Given the description of an element on the screen output the (x, y) to click on. 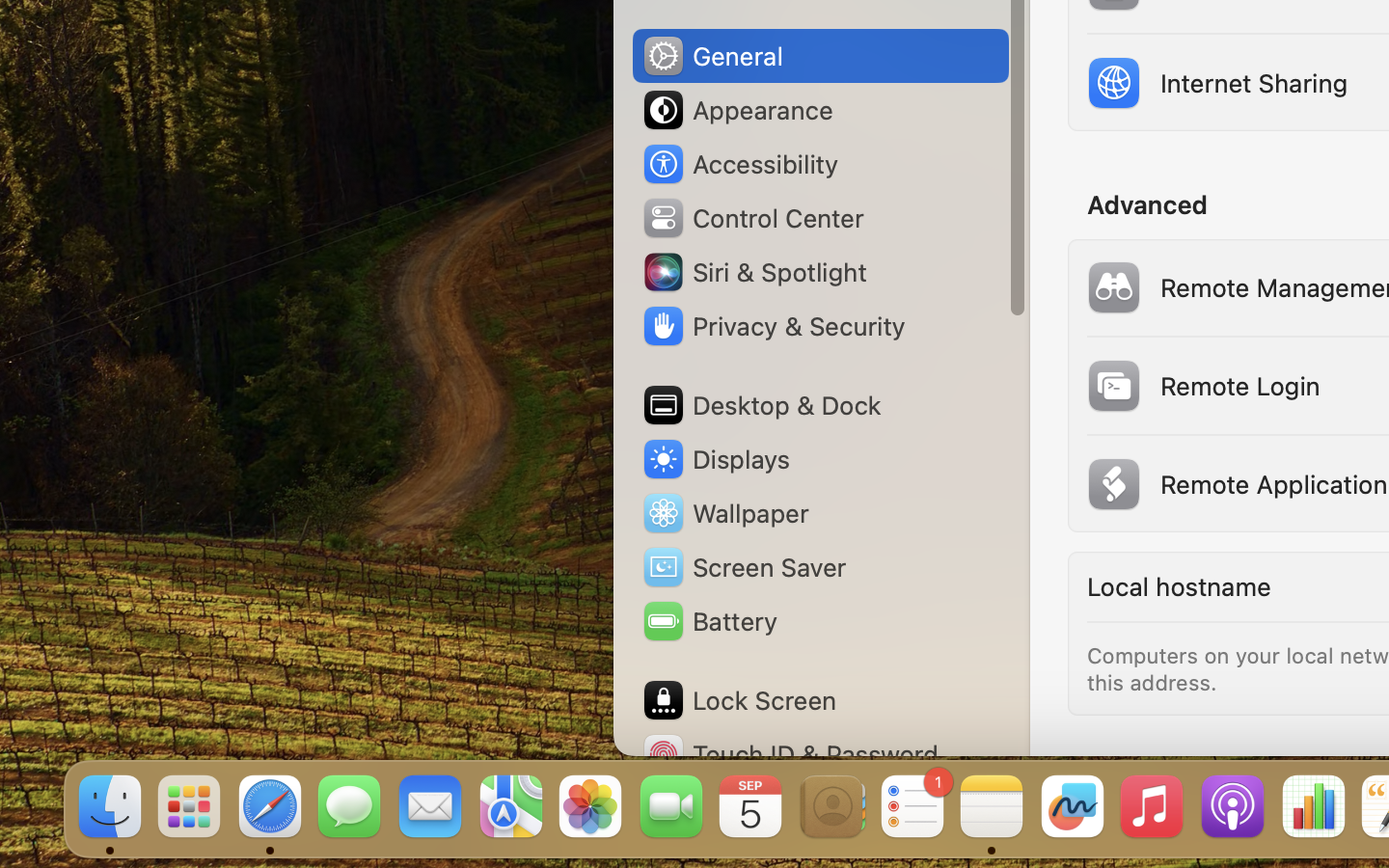
Battery Element type: AXStaticText (708, 620)
Internet Sharing Element type: AXStaticText (1214, 82)
Wallpaper Element type: AXStaticText (724, 512)
Displays Element type: AXStaticText (715, 458)
Local hostname Element type: AXStaticText (1177, 585)
